Given the description of an element on the screen output the (x, y) to click on. 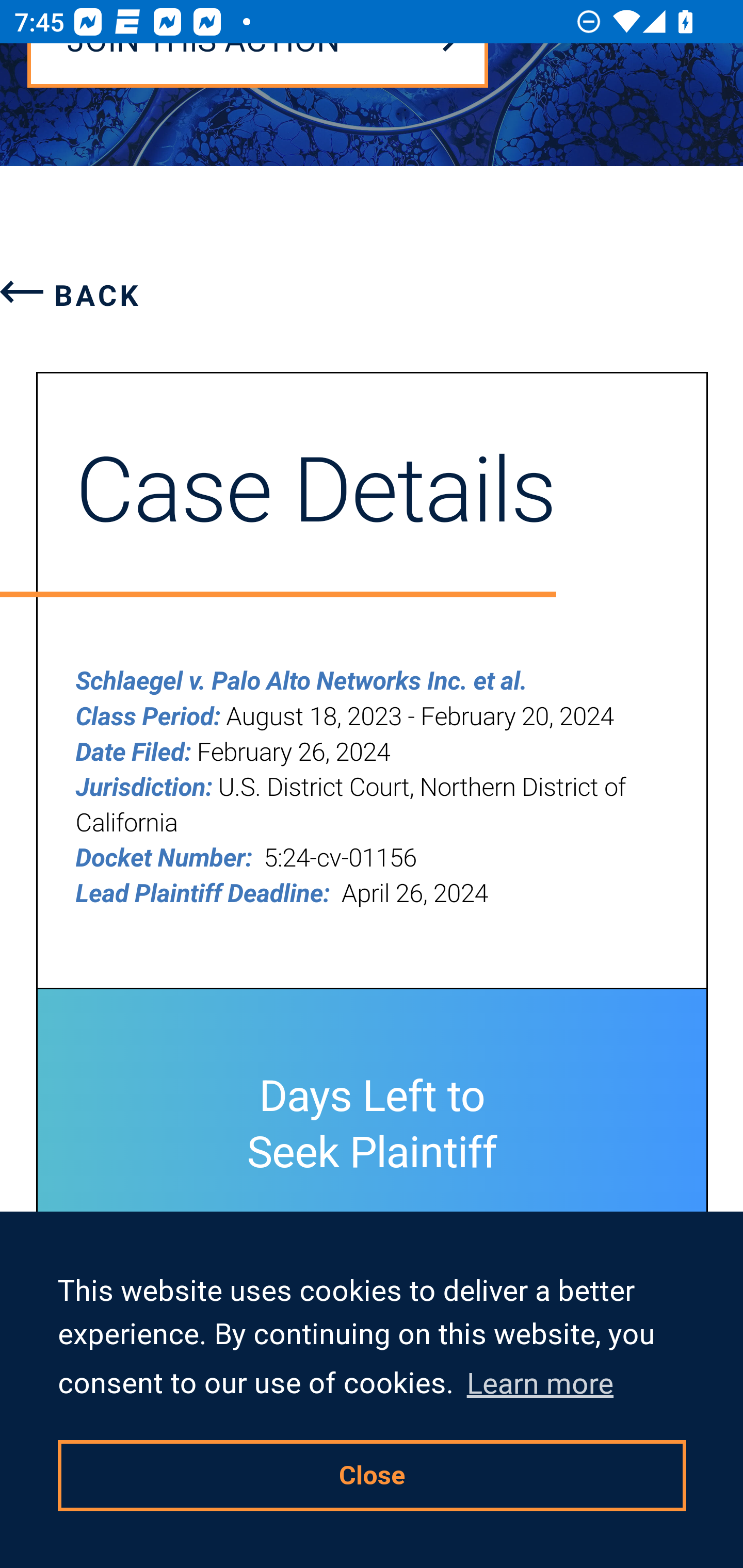
Go back DECB8A51-701F-439B-BF32-D81DF90AB214 BACK (71, 295)
learn more about cookies (540, 1382)
dismiss cookie message (372, 1475)
